Given the description of an element on the screen output the (x, y) to click on. 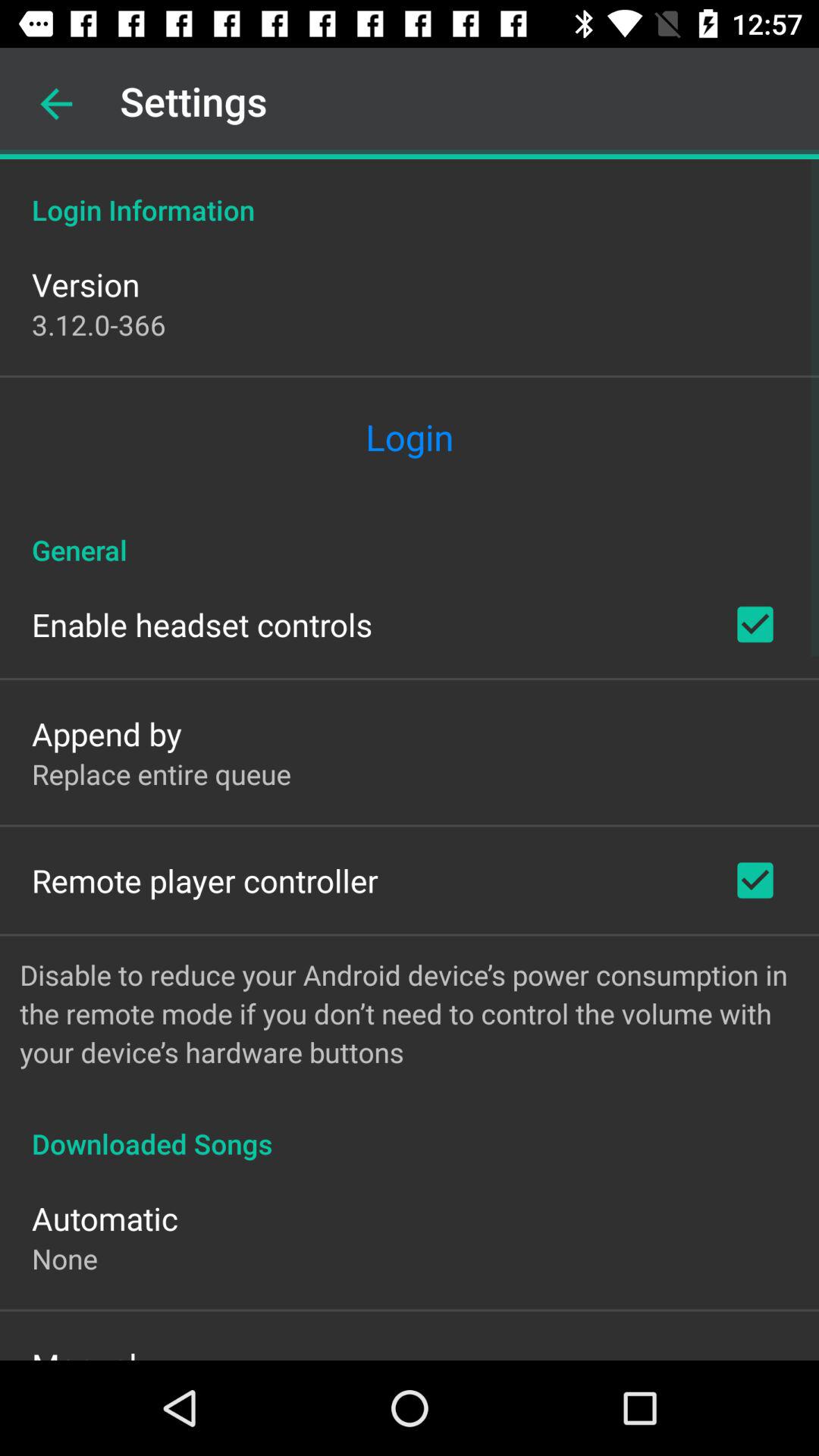
launch automatic (104, 1217)
